Given the description of an element on the screen output the (x, y) to click on. 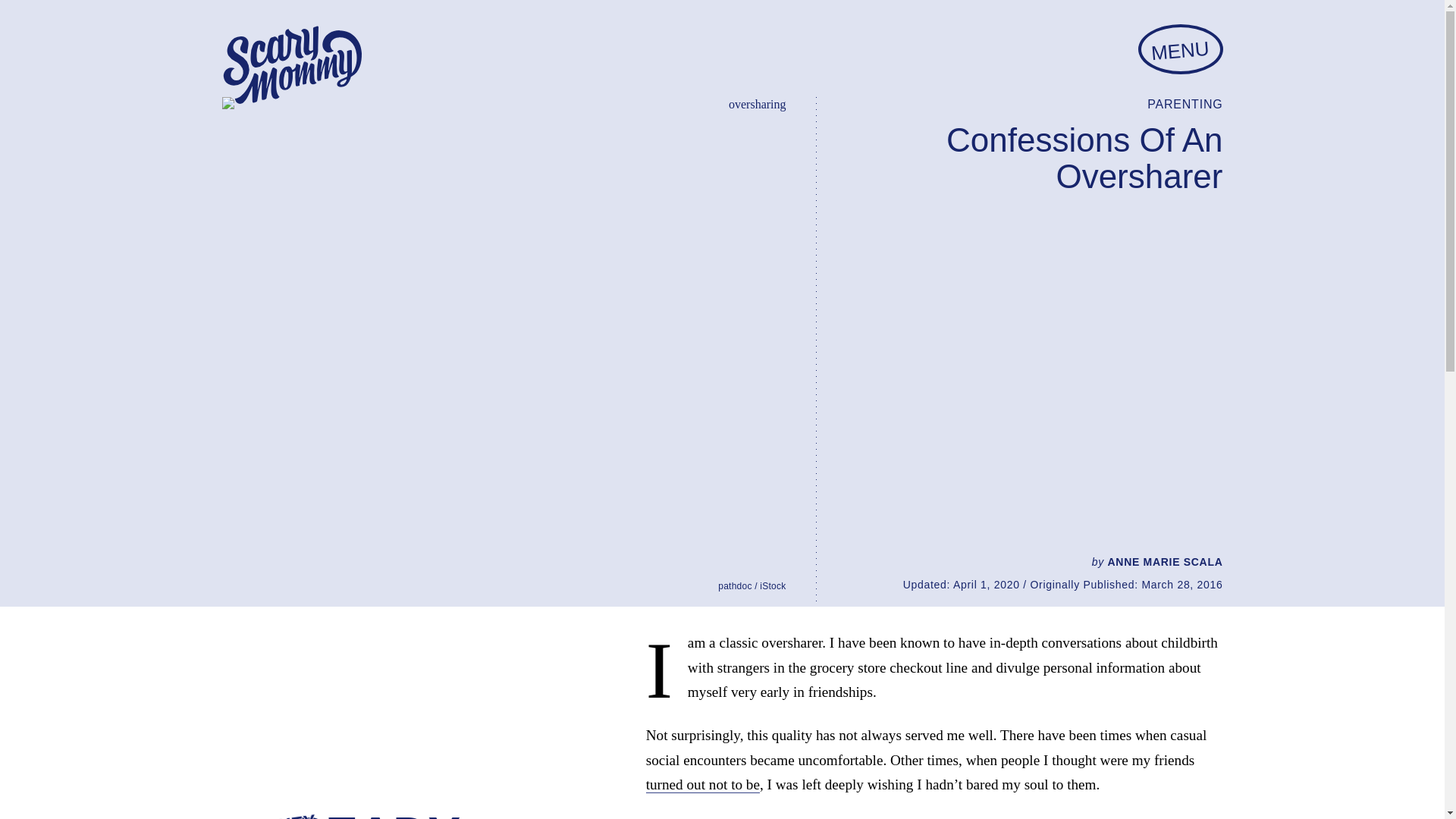
turned out not to be (703, 784)
Scary Mommy (291, 64)
